Given the description of an element on the screen output the (x, y) to click on. 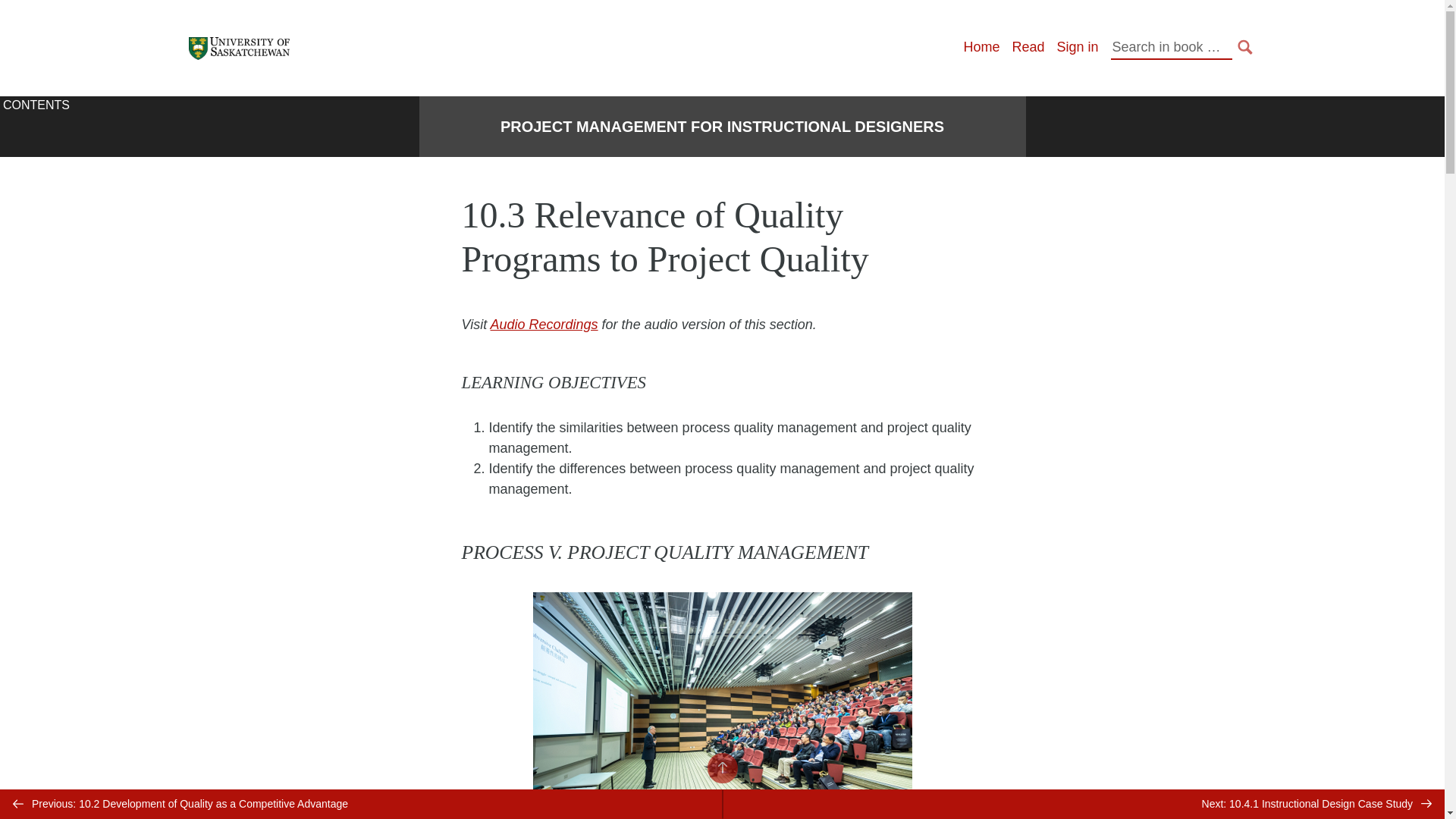
Sign in (1077, 46)
Home (980, 46)
PROJECT MANAGEMENT FOR INSTRUCTIONAL DESIGNERS (721, 126)
Read (1027, 46)
Audio Recordings (544, 324)
